Given the description of an element on the screen output the (x, y) to click on. 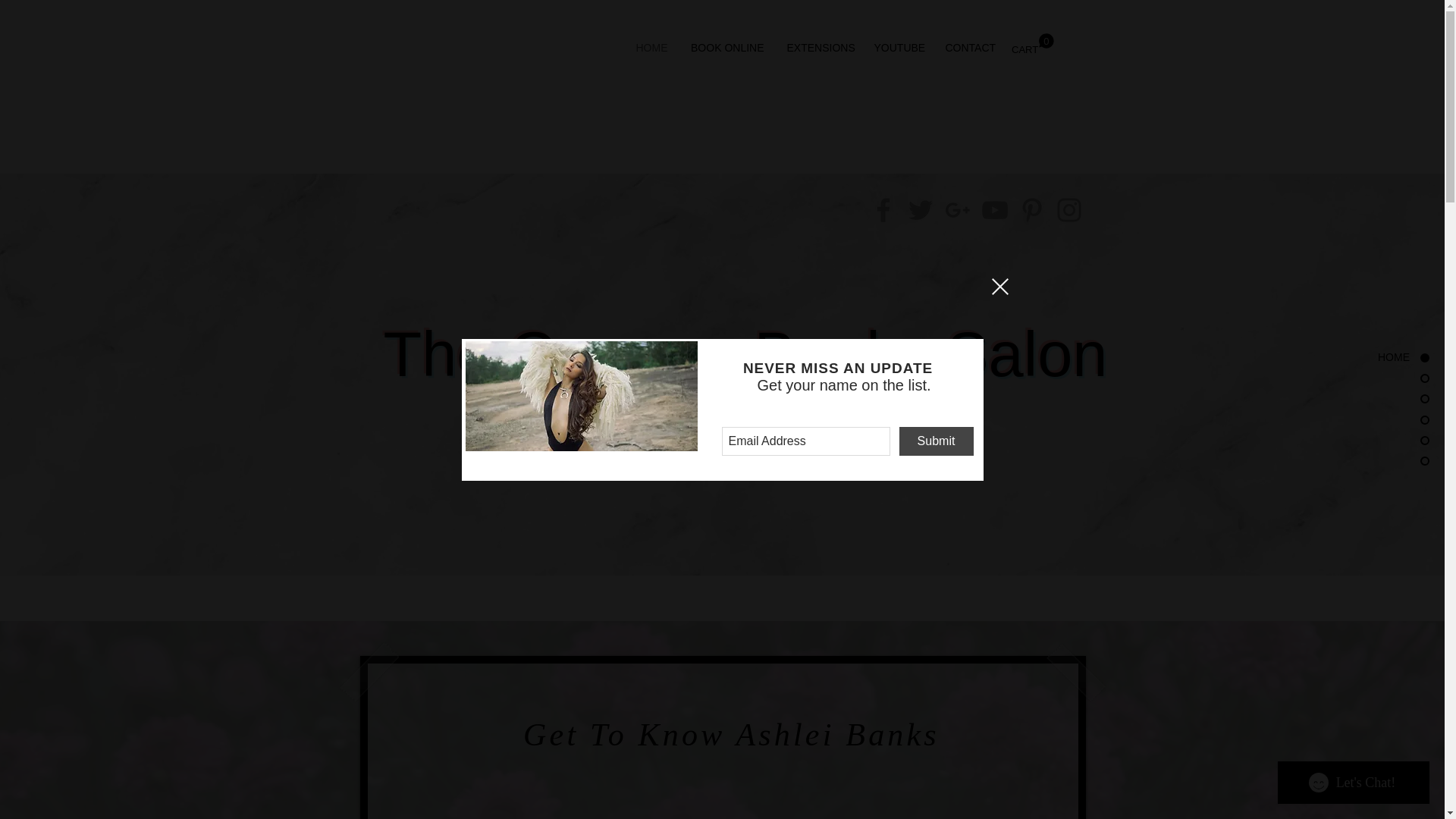
Back to site (1000, 285)
HOME (1032, 44)
YOUTUBE (650, 47)
BOOK ONLINE (898, 47)
EXTENSIONS (727, 47)
HOME (817, 47)
Submit (1346, 357)
CONTACT (936, 440)
External YouTube (970, 47)
